Given the description of an element on the screen output the (x, y) to click on. 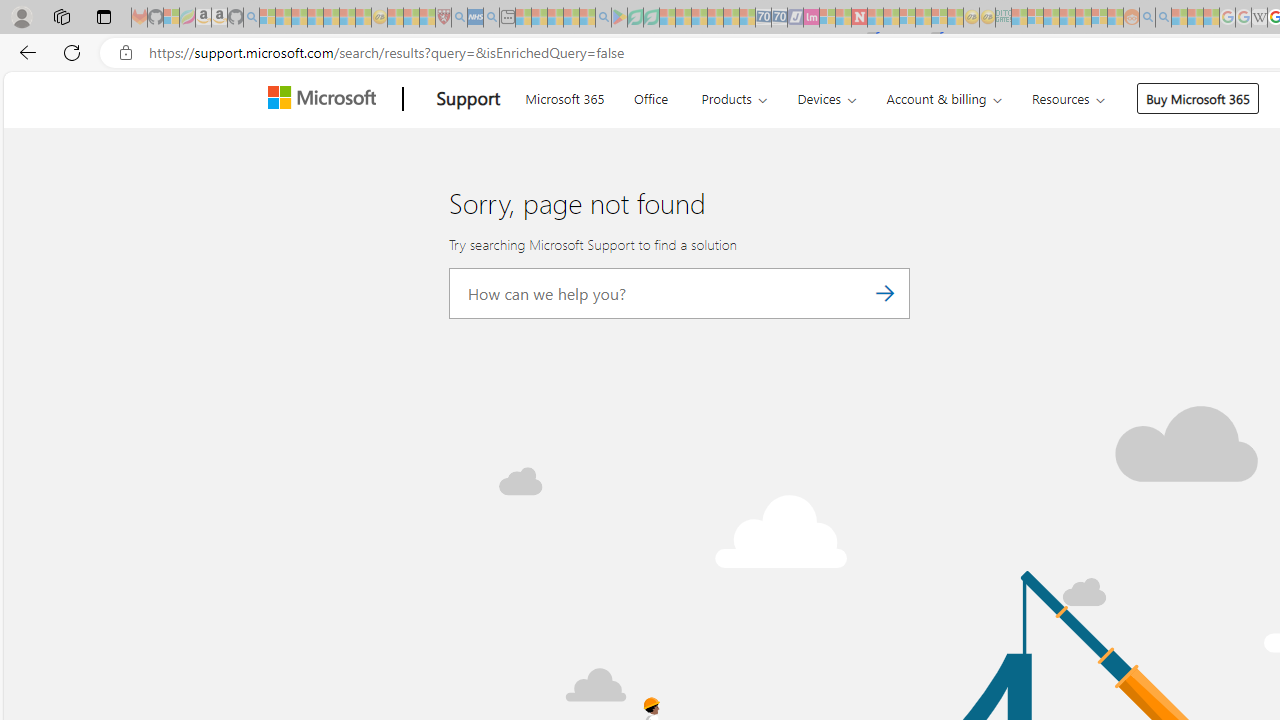
google - Search - Sleeping (603, 17)
